Given the description of an element on the screen output the (x, y) to click on. 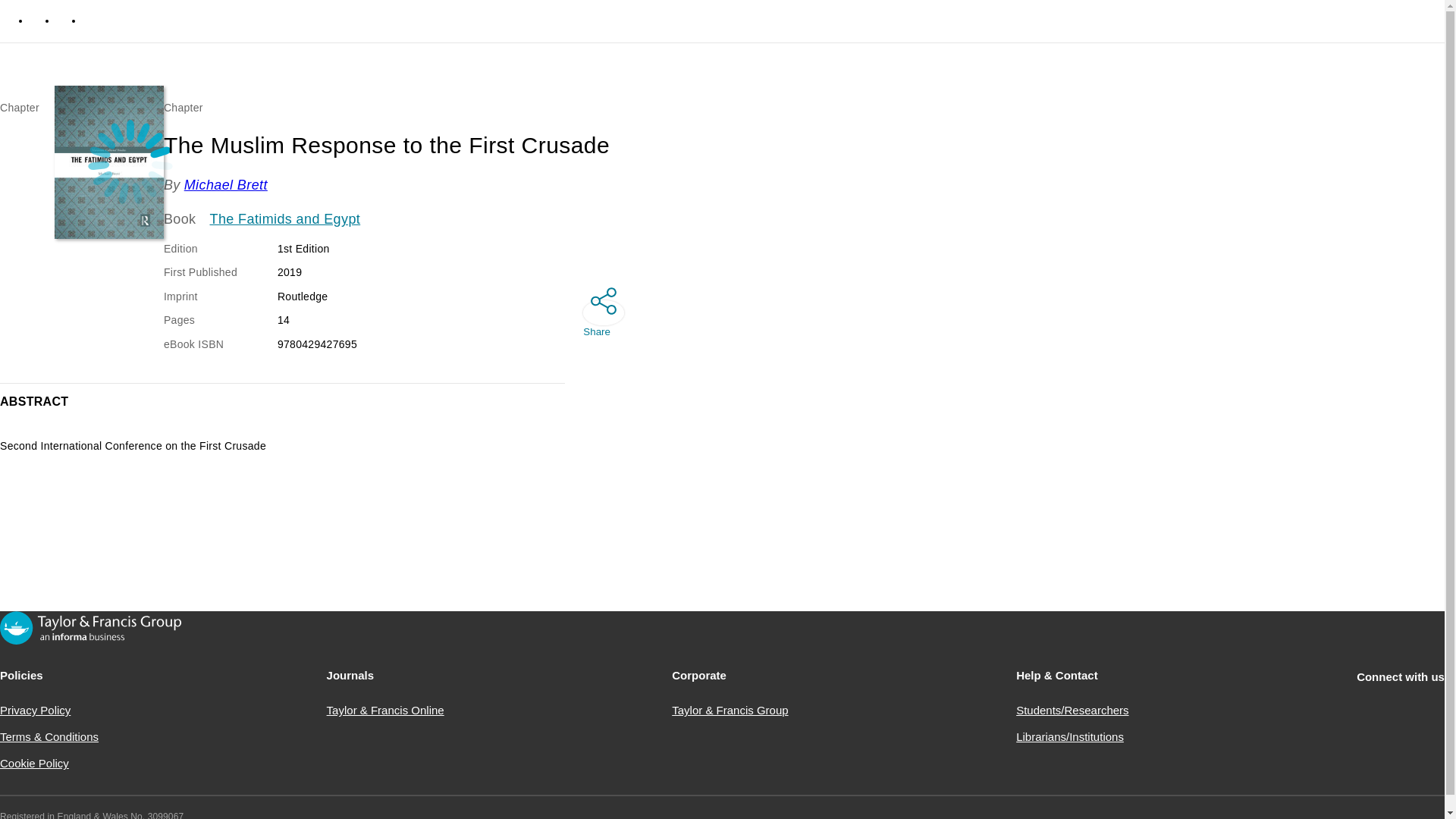
Cookie Policy (34, 763)
Michael Brett (225, 184)
The Fatimids and Egypt (285, 219)
Privacy Policy (34, 710)
